Given the description of an element on the screen output the (x, y) to click on. 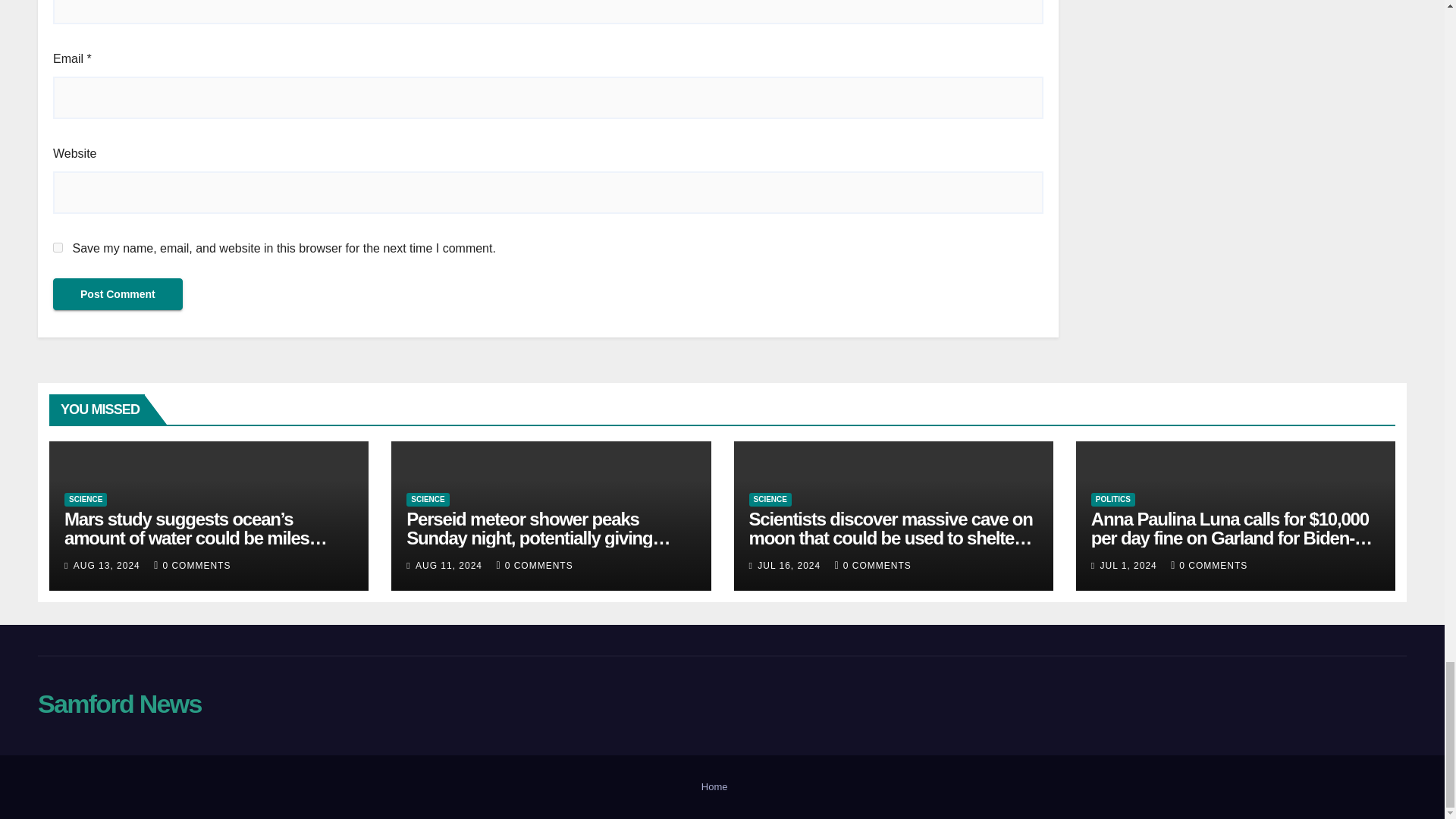
Post Comment (117, 294)
Post Comment (117, 294)
yes (57, 247)
